Given the description of an element on the screen output the (x, y) to click on. 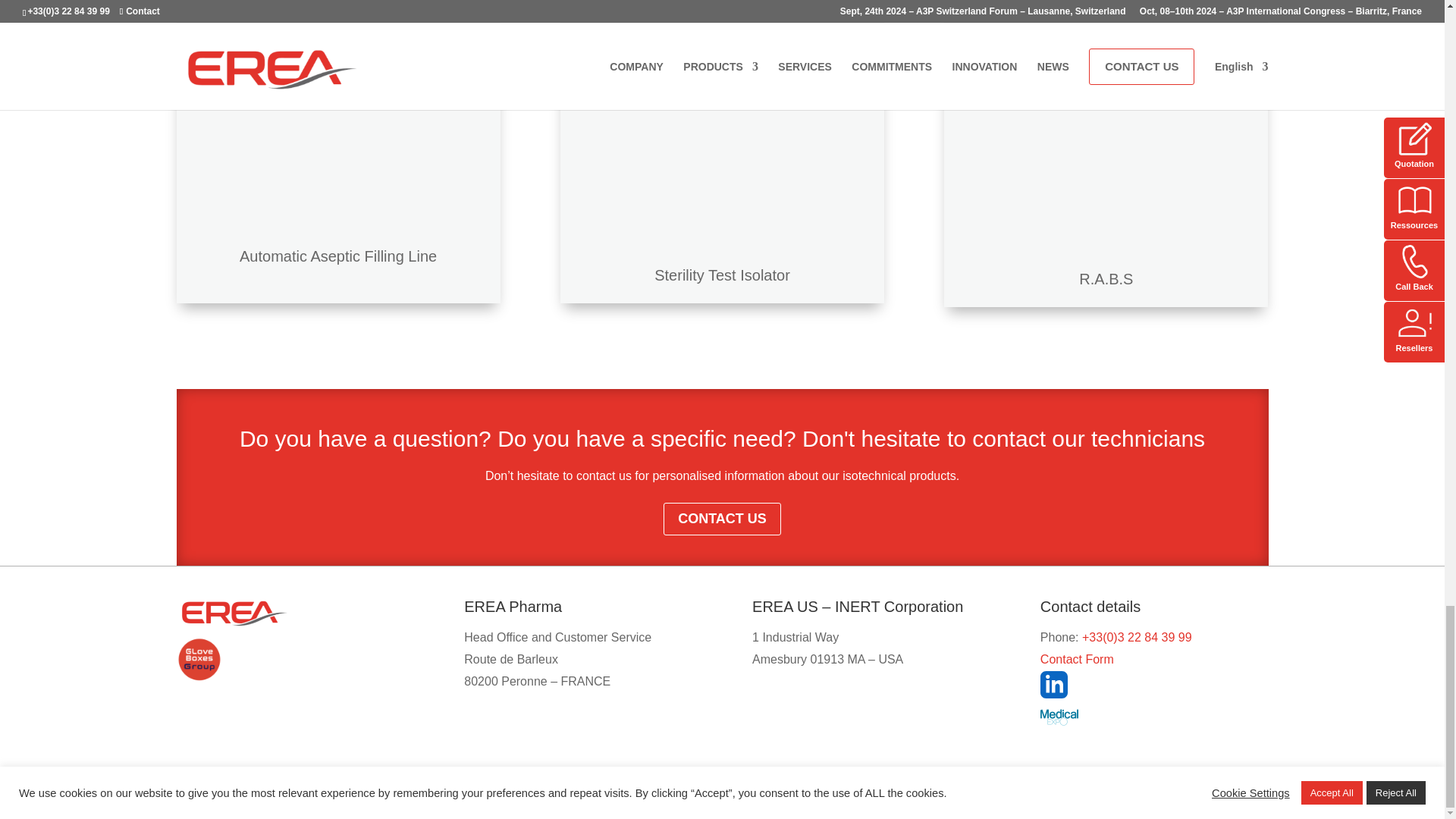
Automatic Aseptic Filling Line (338, 256)
